Given the description of an element on the screen output the (x, y) to click on. 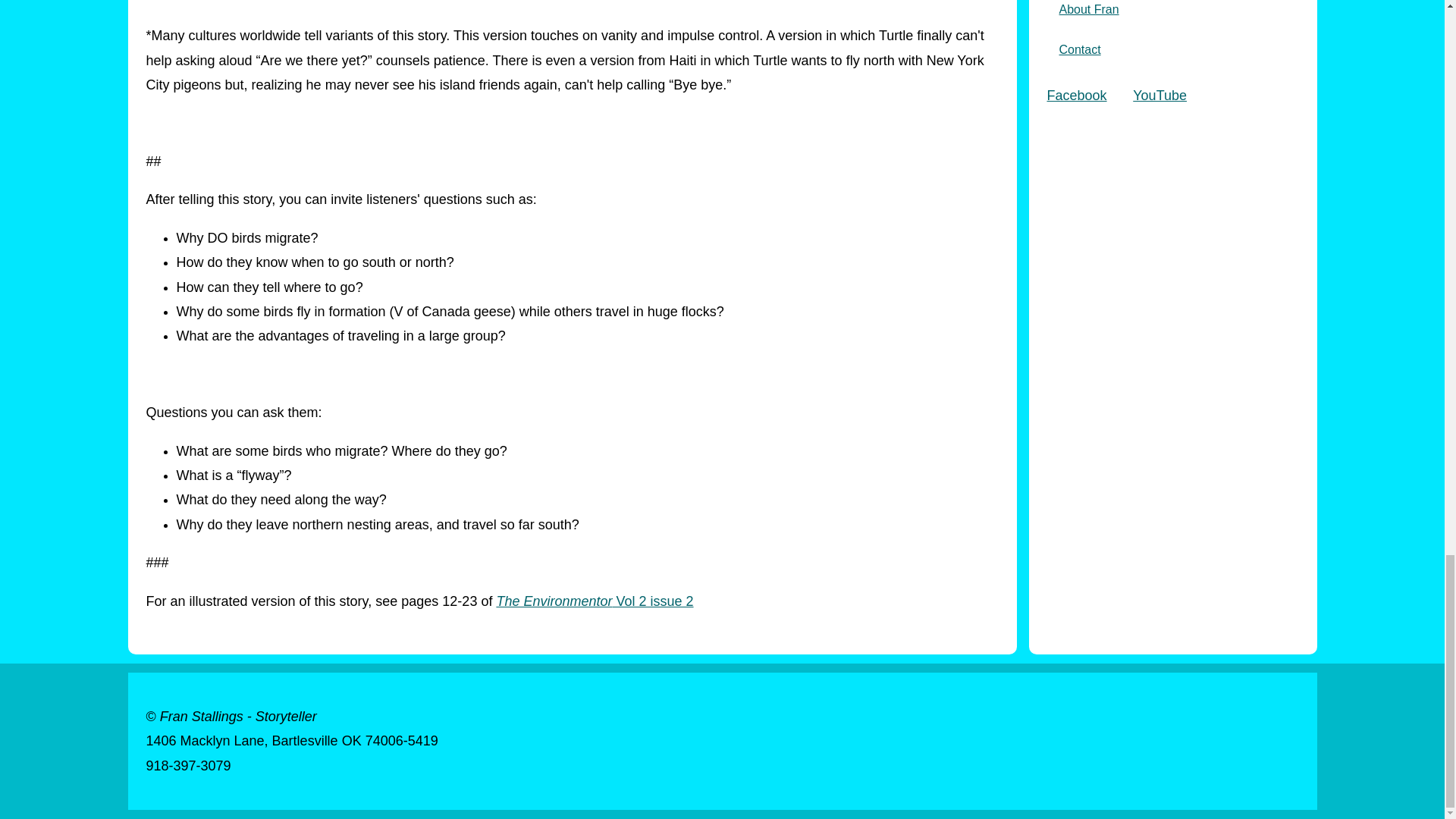
The Environmentor Vol 2 issue 2 (594, 600)
